Given the description of an element on the screen output the (x, y) to click on. 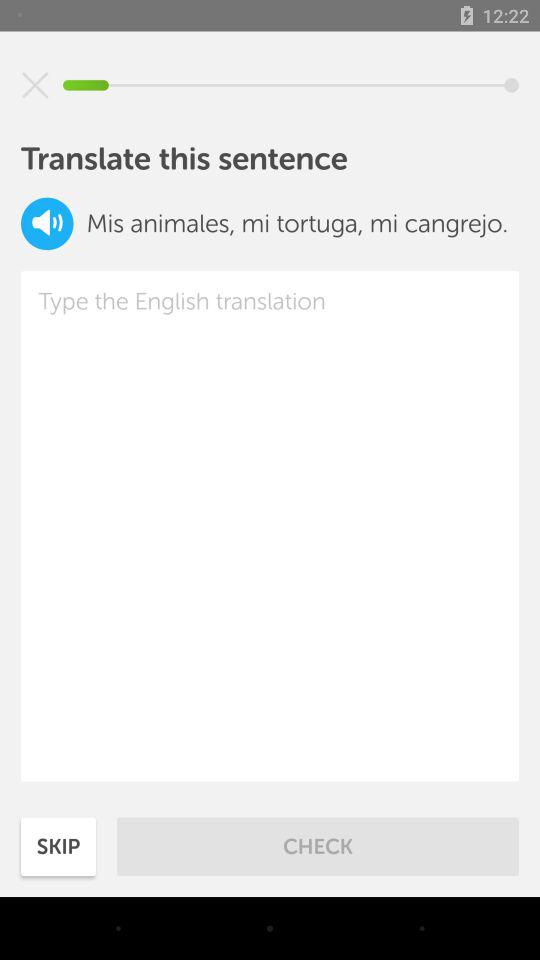
my turtle and crab (35, 85)
